Given the description of an element on the screen output the (x, y) to click on. 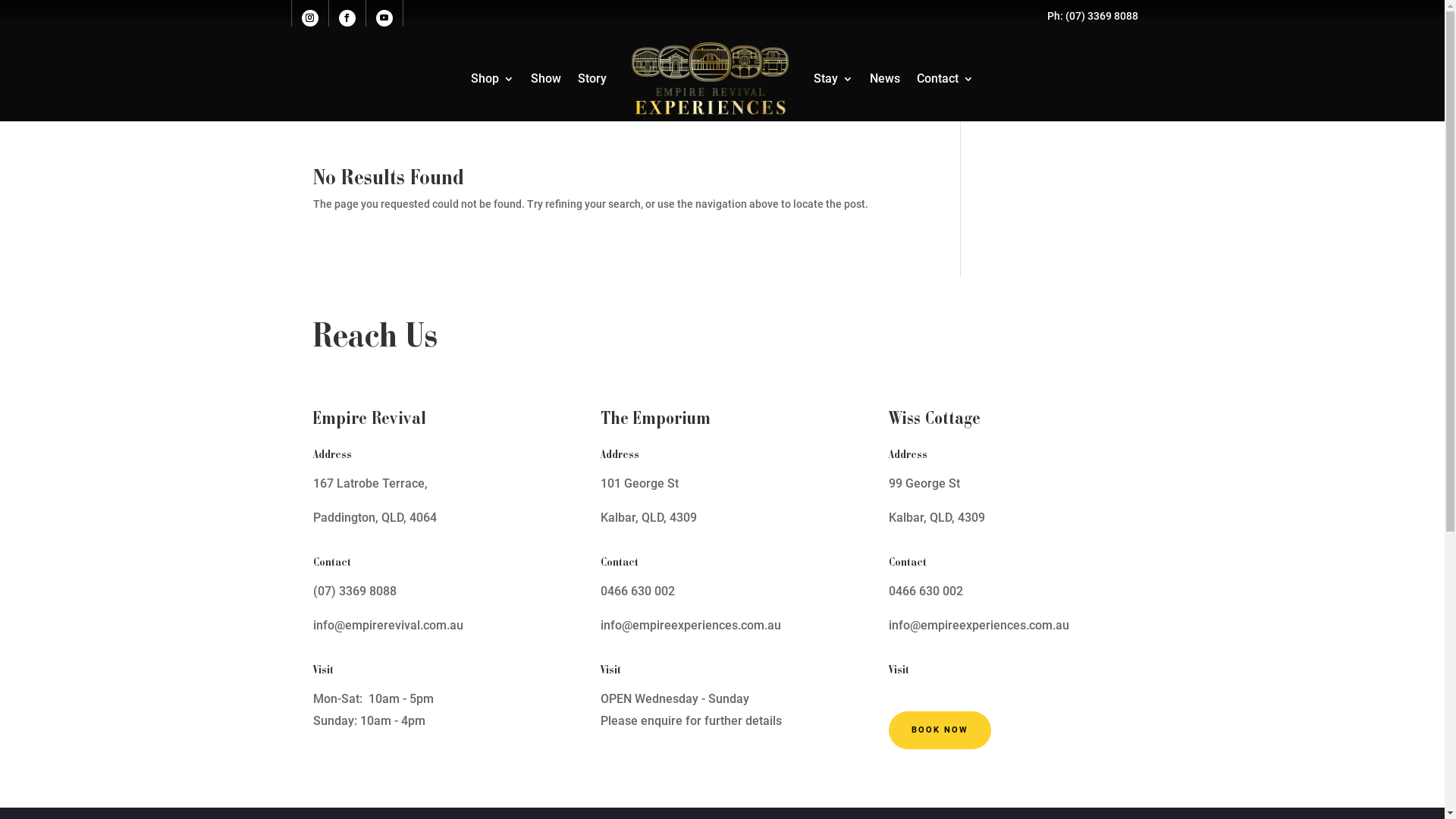
Stay Element type: text (833, 78)
Contact Element type: text (944, 78)
Follow on Instagram Element type: hover (309, 17)
Shop Element type: text (492, 78)
News Element type: text (884, 78)
Follow on Facebook Element type: hover (346, 17)
BOOK NOW Element type: text (939, 730)
Show Element type: text (545, 78)
Follow on Youtube Element type: hover (384, 17)
Story Element type: text (591, 78)
